Given the description of an element on the screen output the (x, y) to click on. 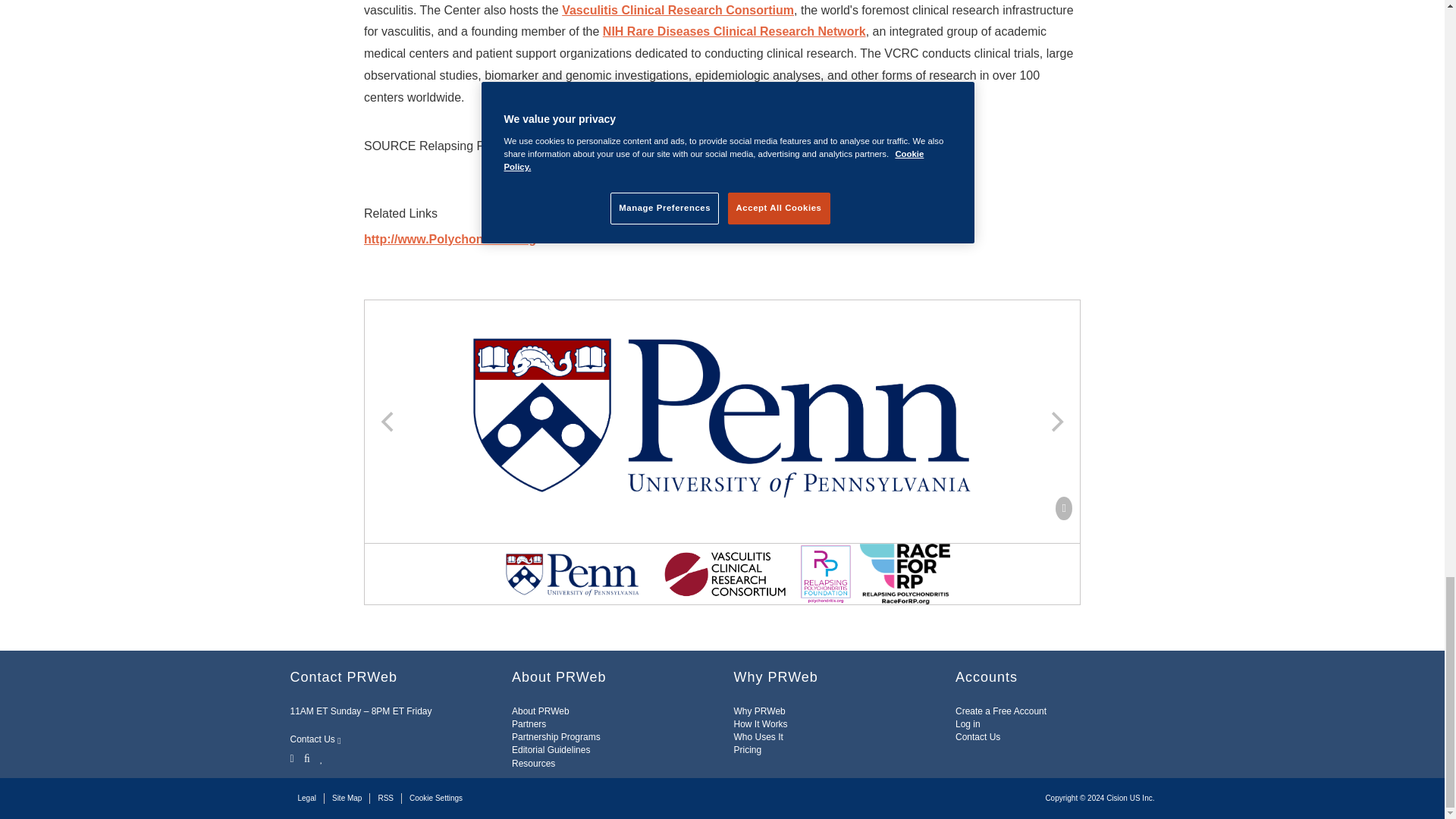
Resources (533, 762)
Editorial Guidelines (550, 749)
Partnership Programs (555, 737)
Twitter (293, 757)
Why PRWeb (759, 710)
Facebook (306, 757)
Partners (529, 724)
About PRWeb (540, 710)
LinkedIn (321, 757)
